Given the description of an element on the screen output the (x, y) to click on. 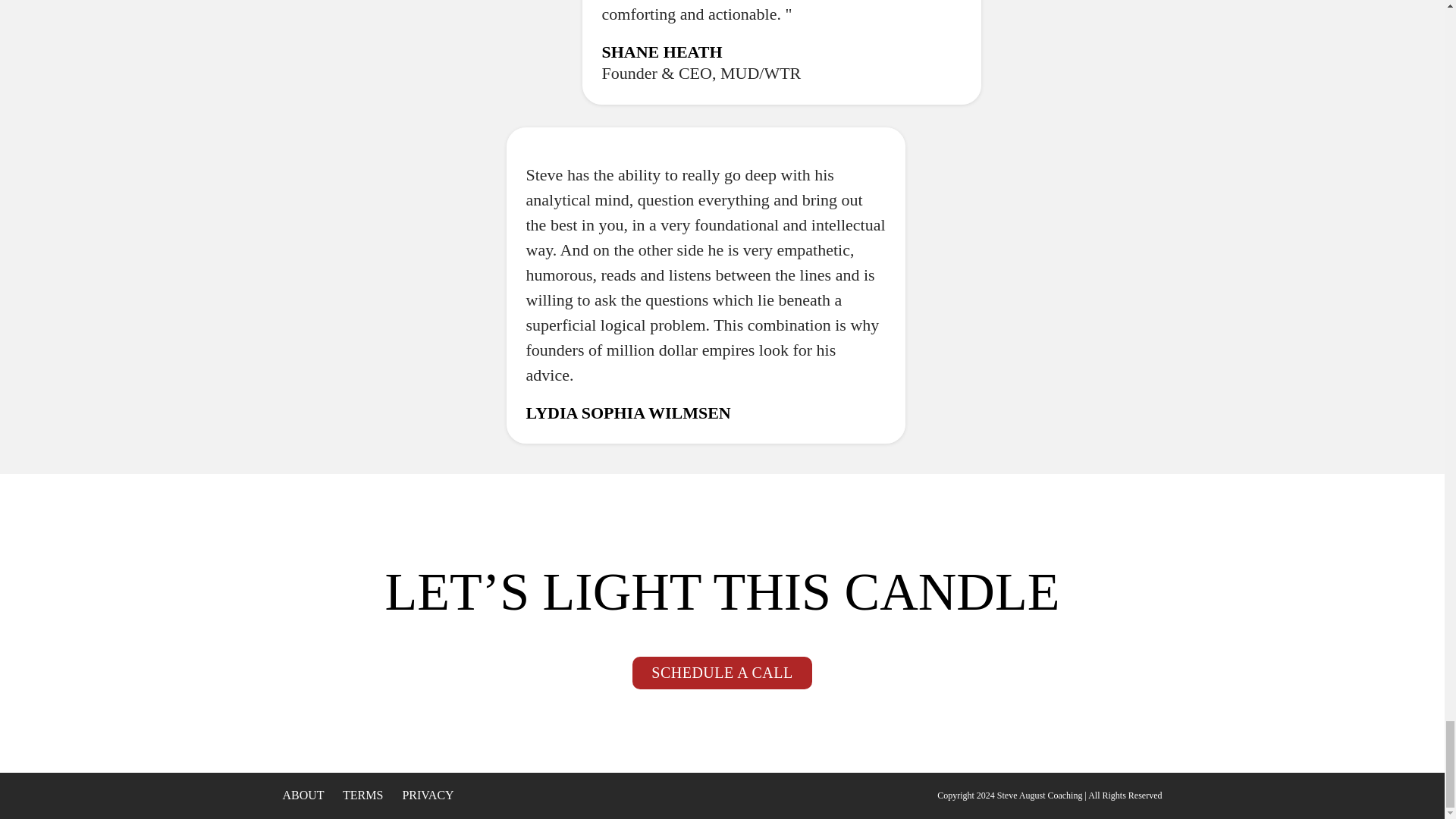
TERMS (362, 794)
PRIVACY (426, 794)
SCHEDULE A CALL (720, 672)
